Given the description of an element on the screen output the (x, y) to click on. 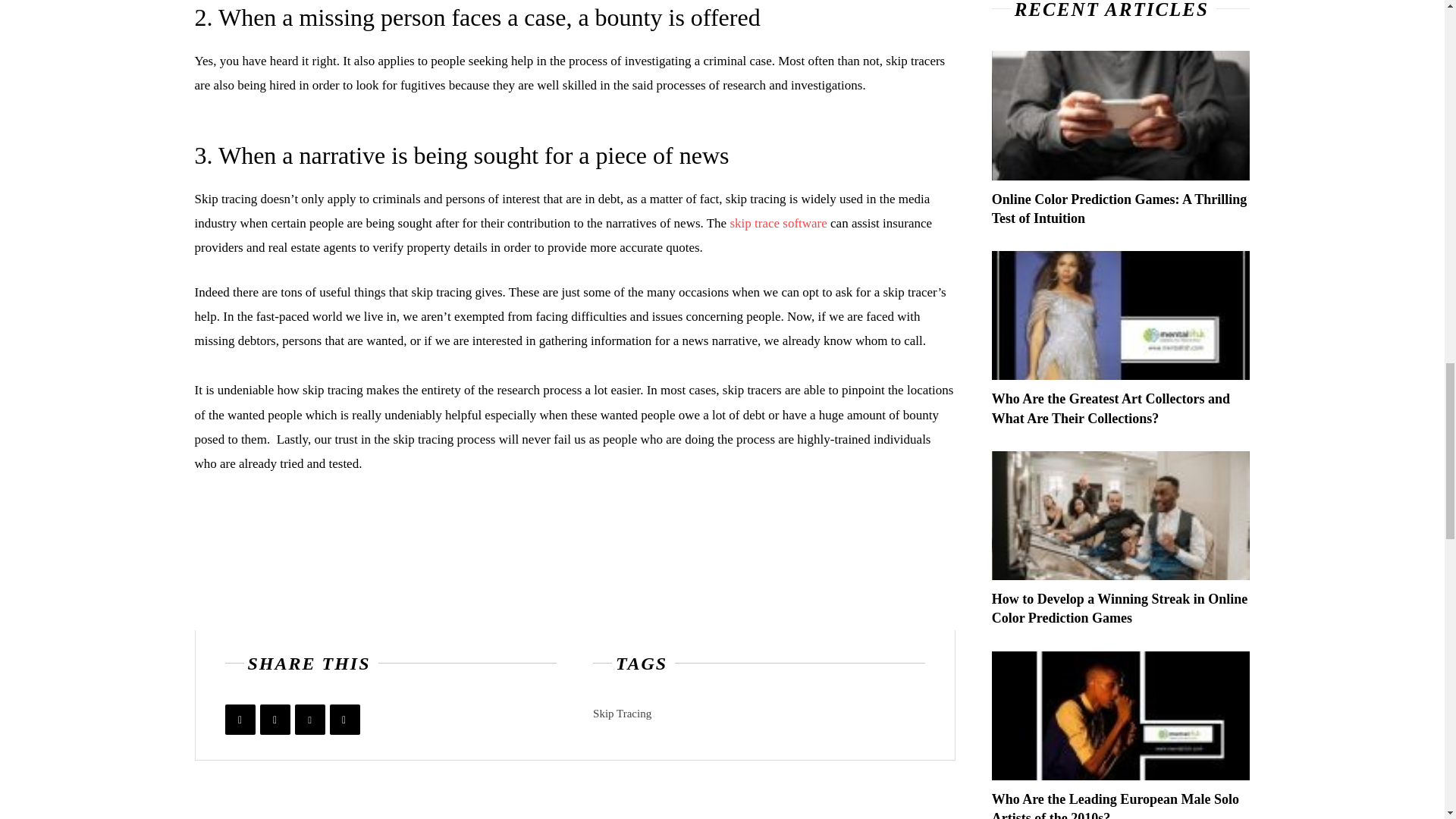
Mix (344, 719)
Twitter (274, 719)
Pinterest (309, 719)
Facebook (239, 719)
